Given the description of an element on the screen output the (x, y) to click on. 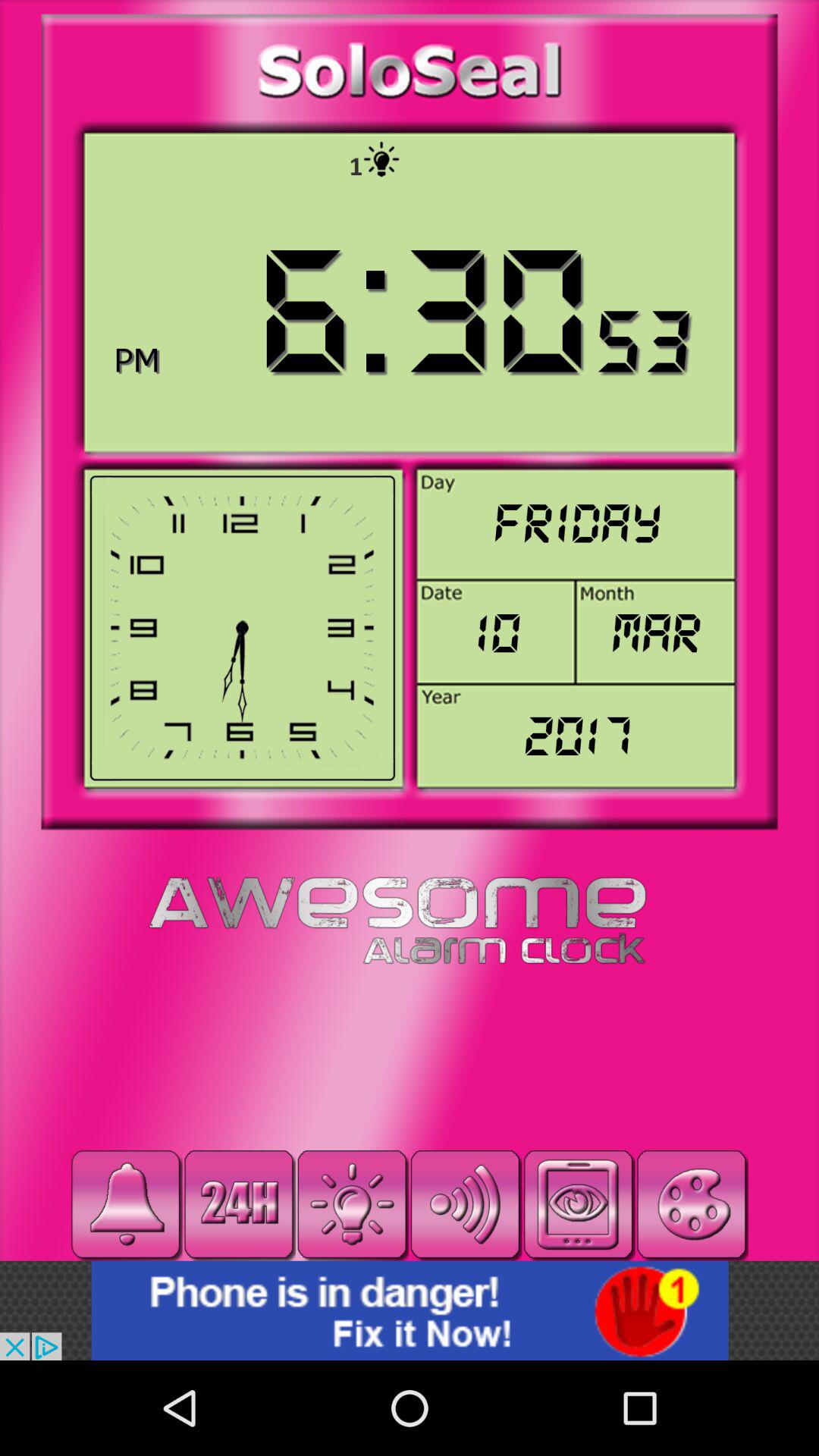
volume control (465, 1203)
